Given the description of an element on the screen output the (x, y) to click on. 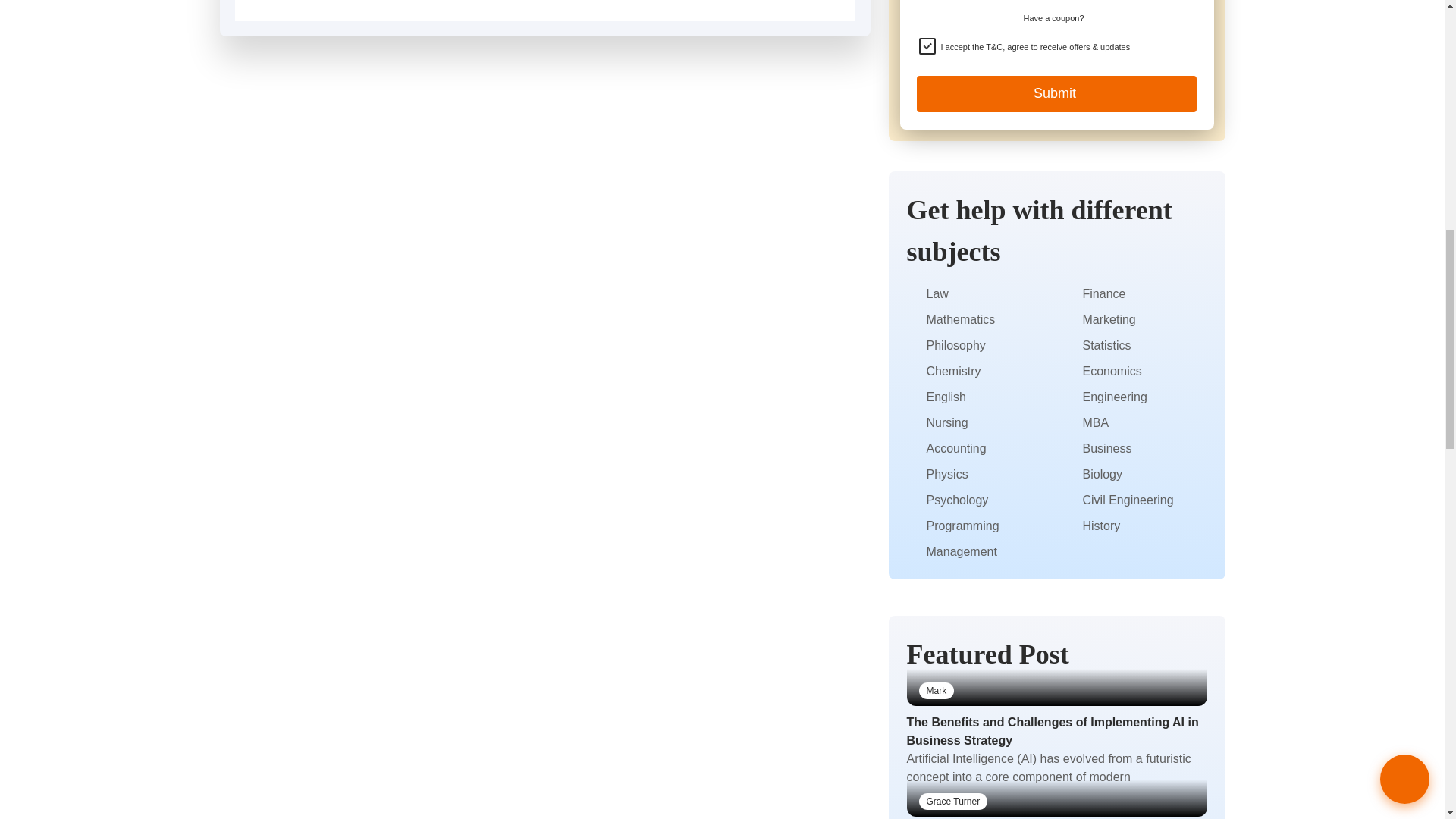
diffrent-subjects (912, 371)
diffrent-subjects (912, 422)
diffrent-subjects (912, 294)
diffrent-subjects (912, 345)
diffrent-subjects (912, 397)
diffrent-subjects (912, 319)
